Given the description of an element on the screen output the (x, y) to click on. 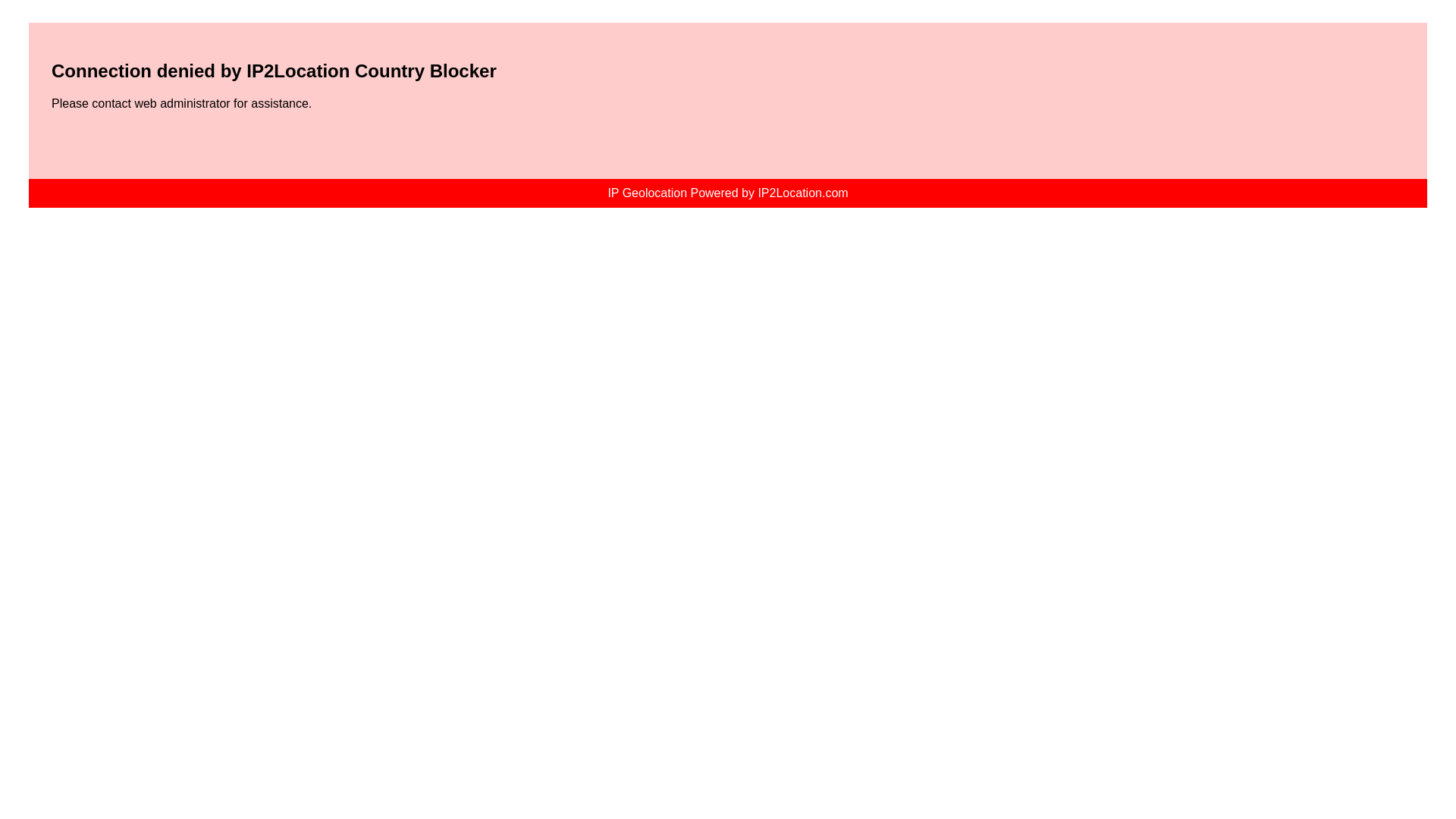
IP Geolocation Powered by IP2Location.com (727, 192)
